Given the description of an element on the screen output the (x, y) to click on. 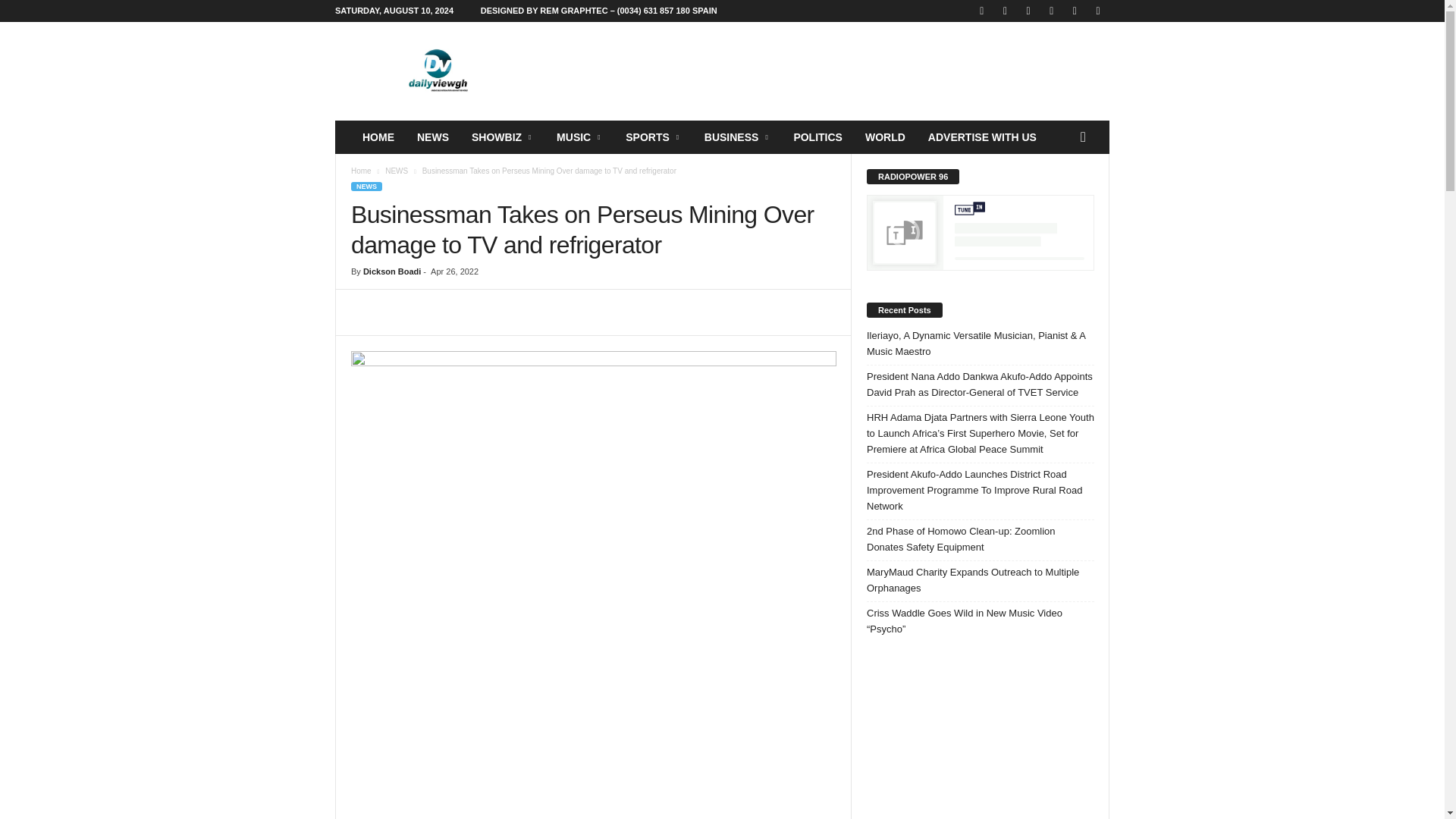
SHOWBIZ (502, 136)
Daily View Gh (437, 70)
NEWS (433, 136)
HOME (378, 136)
